Given the description of an element on the screen output the (x, y) to click on. 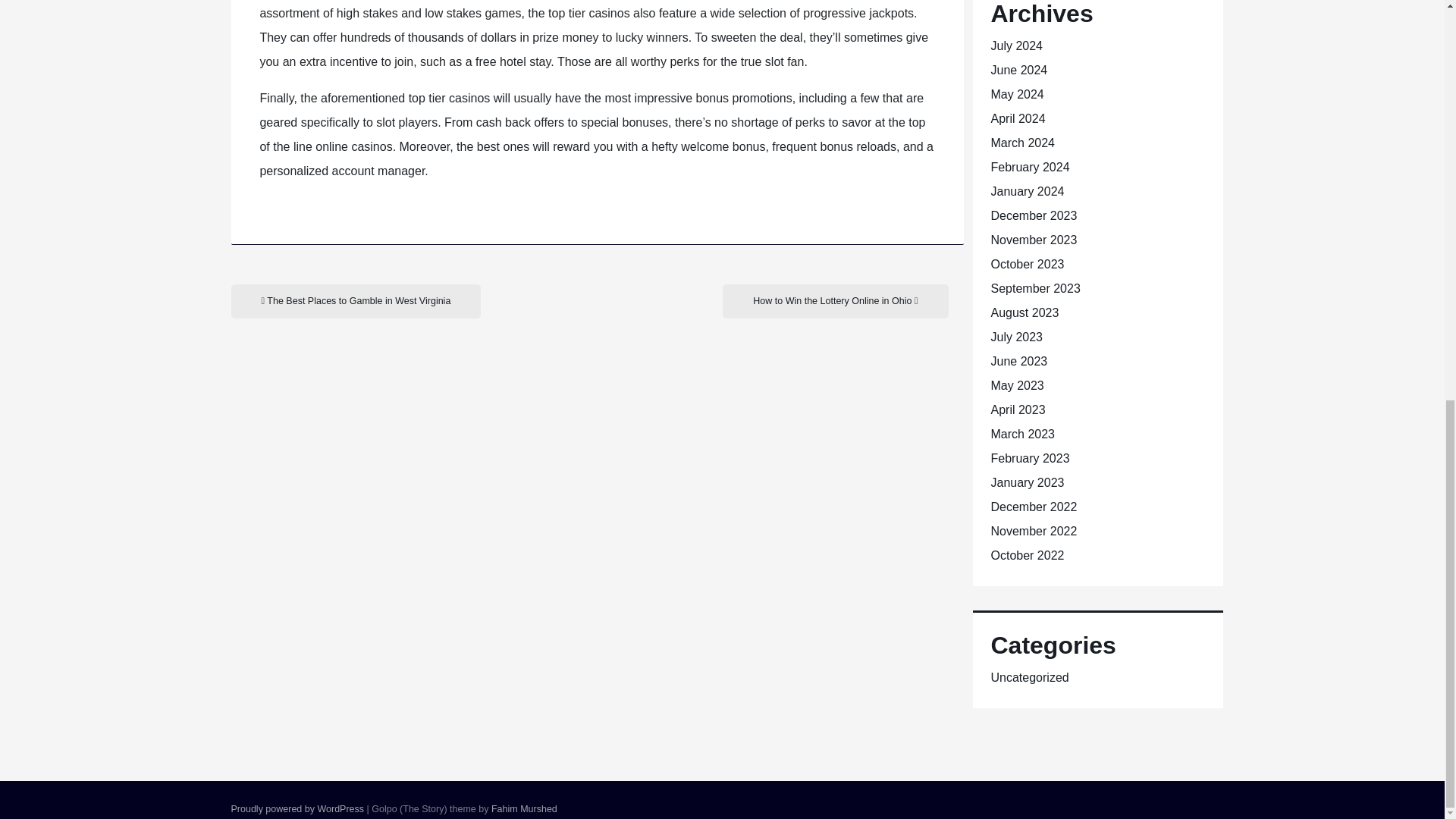
February 2023 (1029, 458)
September 2023 (1035, 287)
November 2023 (1033, 239)
August 2023 (1024, 312)
May 2024 (1016, 93)
March 2024 (1022, 142)
October 2023 (1027, 264)
March 2023 (1022, 433)
April 2023 (1017, 409)
April 2024 (1017, 118)
How to Win the Lottery Online in Ohio (834, 301)
July 2023 (1016, 336)
July 2024 (1016, 45)
December 2023 (1033, 215)
June 2023 (1018, 360)
